Given the description of an element on the screen output the (x, y) to click on. 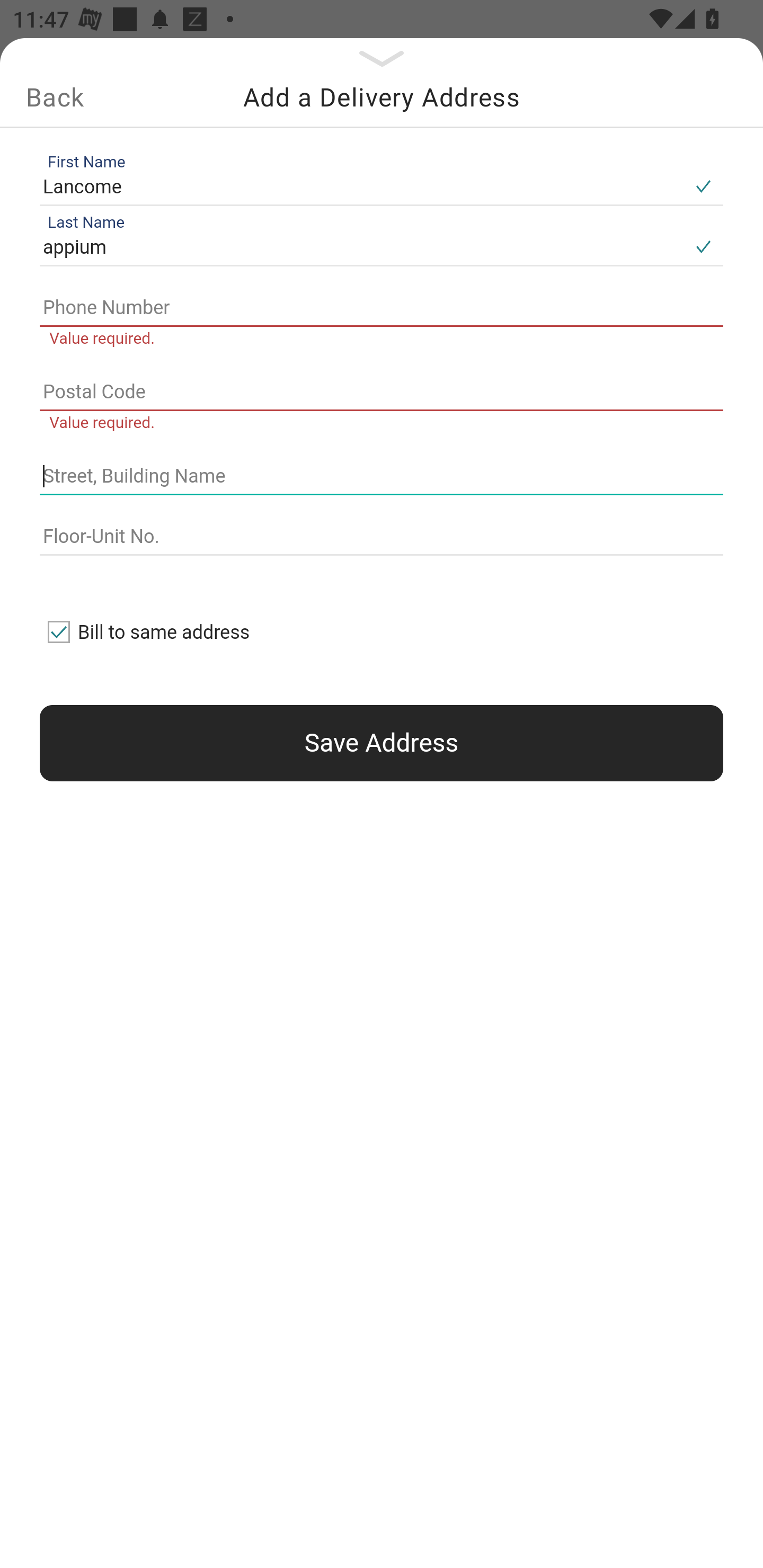
Back (54, 96)
Add a Delivery Address (381, 96)
Lancome (361, 186)
appium (361, 247)
Save Address (381, 742)
